Given the description of an element on the screen output the (x, y) to click on. 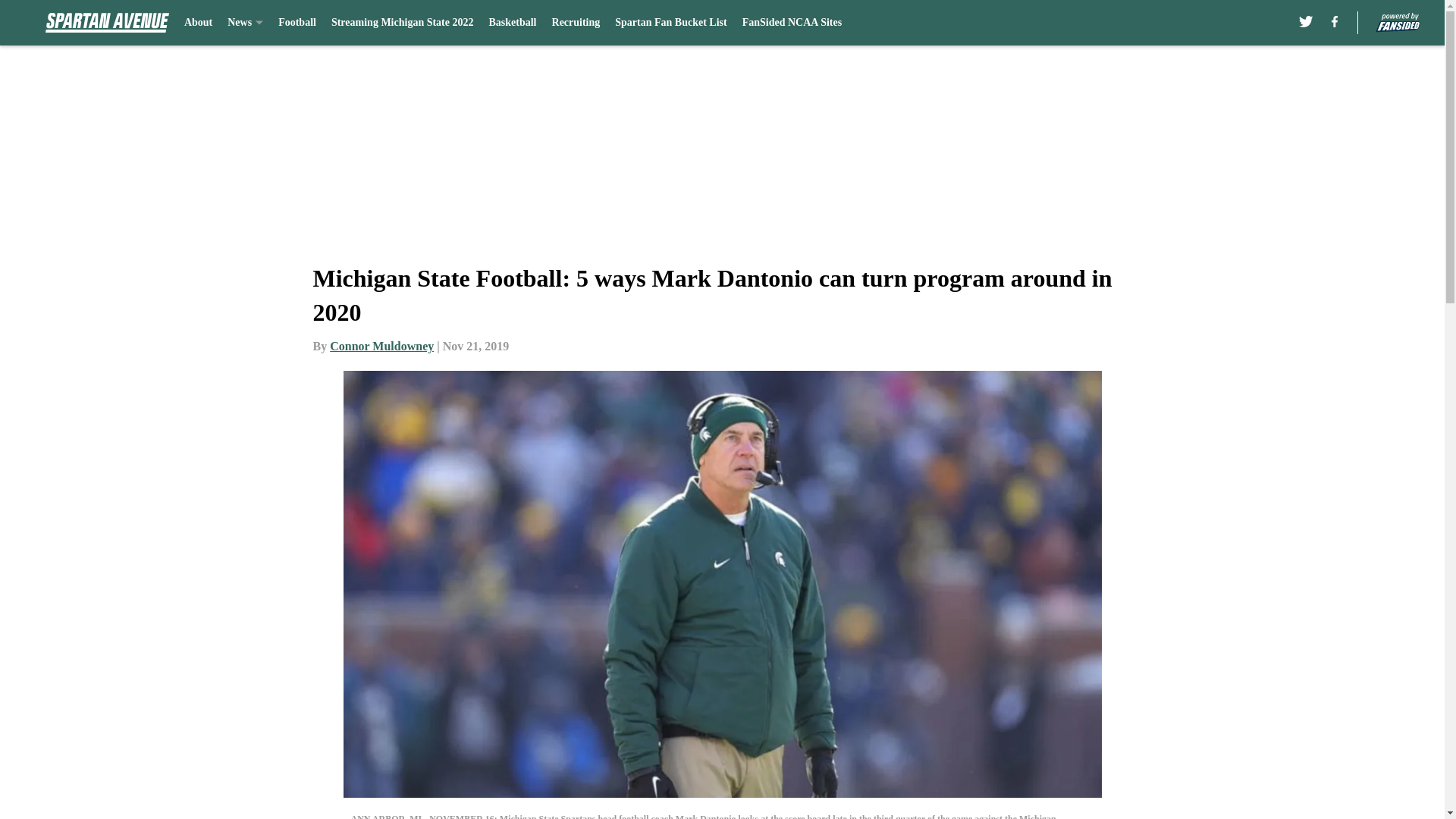
Streaming Michigan State 2022 (402, 22)
FanSided NCAA Sites (791, 22)
Basketball (511, 22)
About (198, 22)
Spartan Fan Bucket List (670, 22)
Football (296, 22)
Recruiting (575, 22)
Connor Muldowney (381, 345)
